Given the description of an element on the screen output the (x, y) to click on. 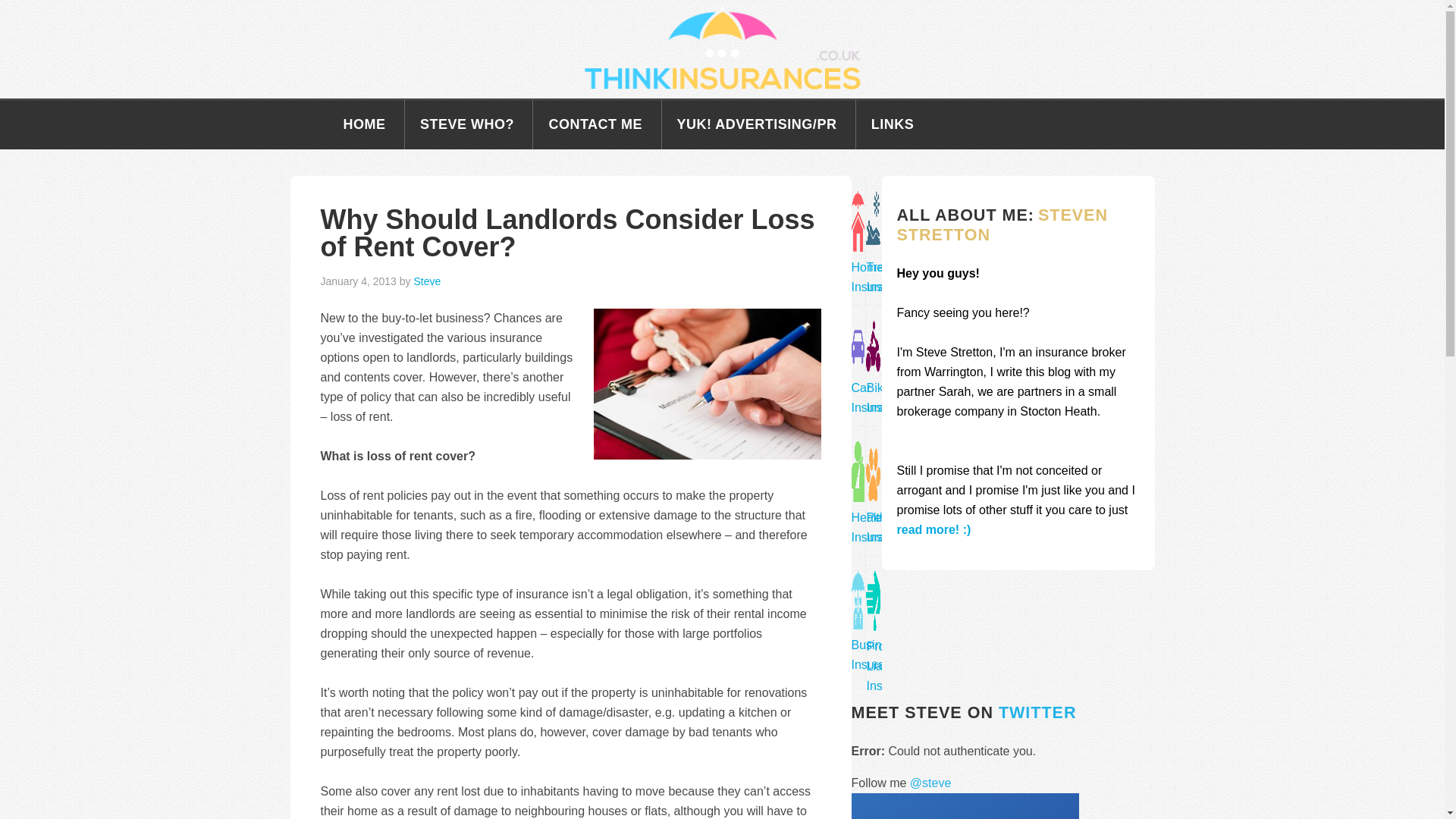
STEVE WHO? (466, 124)
read more (933, 529)
Steve (427, 281)
HOME (363, 124)
CONTACT ME (595, 124)
THINK INSURANCES... GENERAL INSURANCE BLOG (721, 48)
LINKS (893, 124)
